Given the description of an element on the screen output the (x, y) to click on. 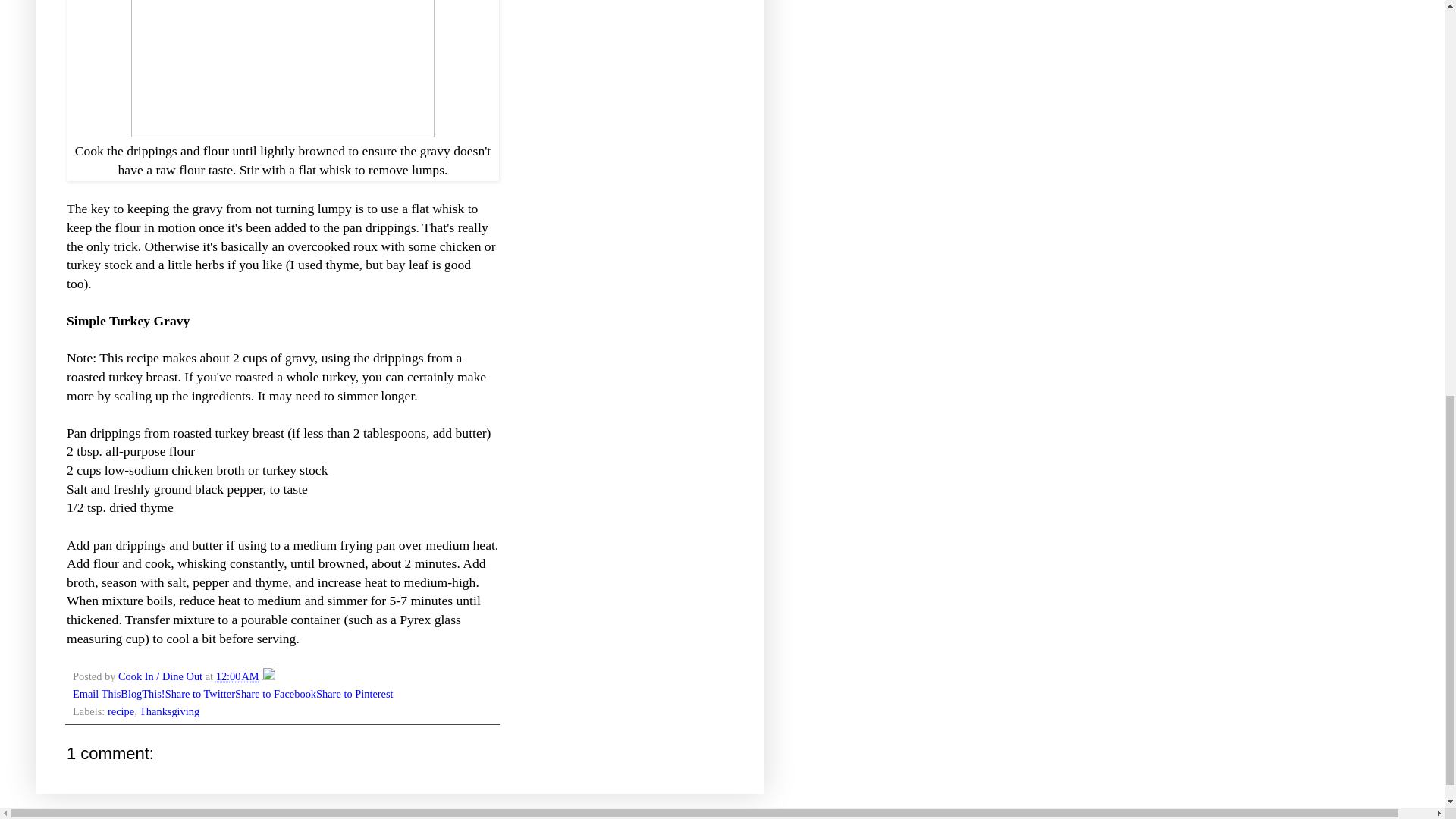
permanent link (237, 676)
BlogThis! (142, 693)
Share to Twitter (199, 693)
Share to Pinterest (354, 693)
author profile (161, 676)
recipe (120, 711)
Share to Pinterest (354, 693)
Share to Facebook (274, 693)
Email This (96, 693)
Share to Twitter (199, 693)
Thanksgiving (169, 711)
Edit Post (268, 676)
Email This (96, 693)
BlogThis! (142, 693)
